Given the description of an element on the screen output the (x, y) to click on. 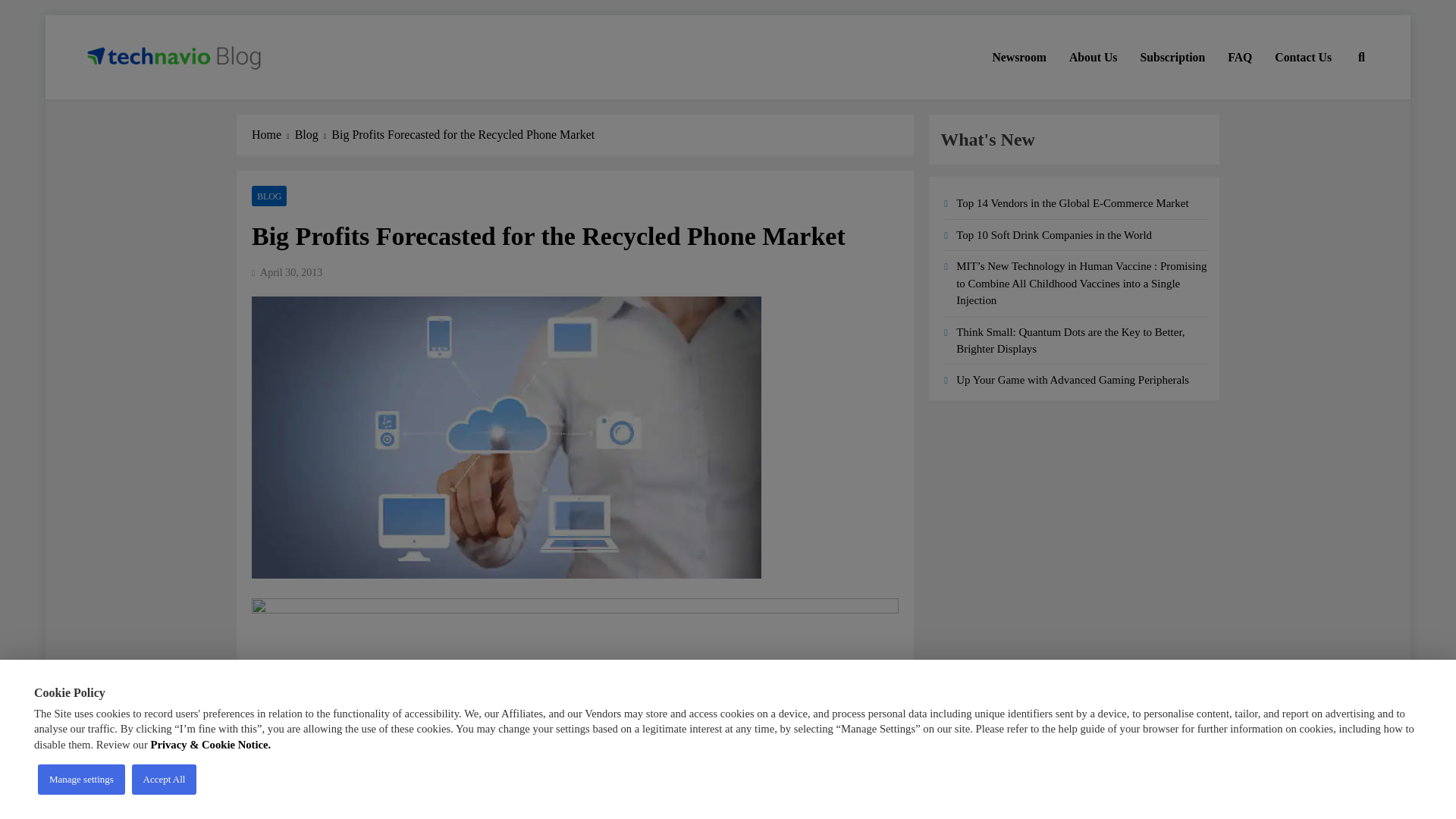
FAQ (1239, 56)
April 30, 2013 (290, 272)
Home (273, 135)
Up Your Game with Advanced Gaming Peripherals (1072, 379)
Top 10 Soft Drink Companies in the World (1053, 234)
Technavio (138, 100)
Blog (313, 135)
Top 14 Vendors in the Global E-Commerce Market (1072, 203)
About Us (1093, 56)
Subscription (1171, 56)
Contact Us (1302, 56)
BLOG (268, 195)
Newsroom (1019, 56)
